Given the description of an element on the screen output the (x, y) to click on. 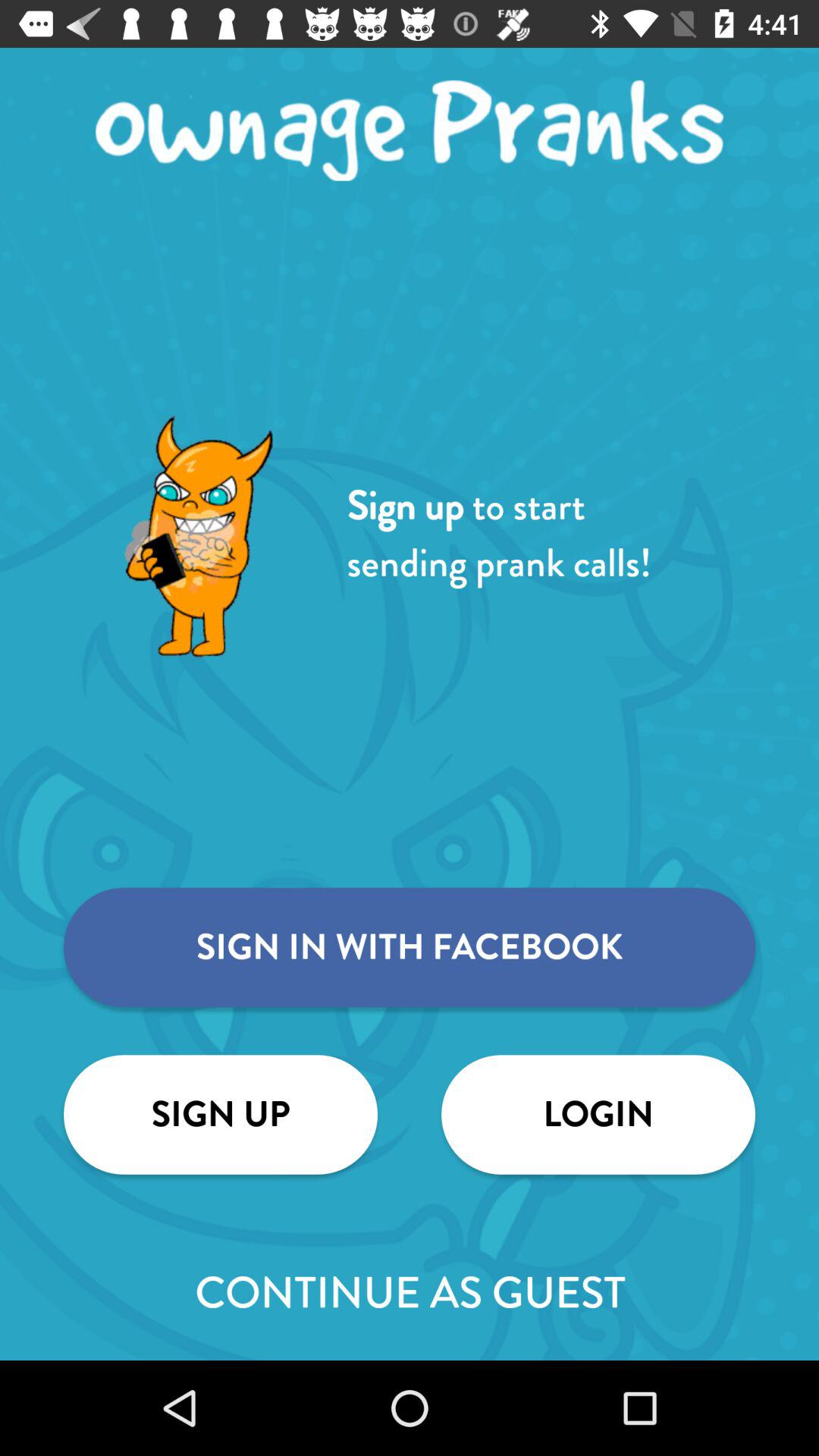
launch the item above sign up icon (409, 947)
